Given the description of an element on the screen output the (x, y) to click on. 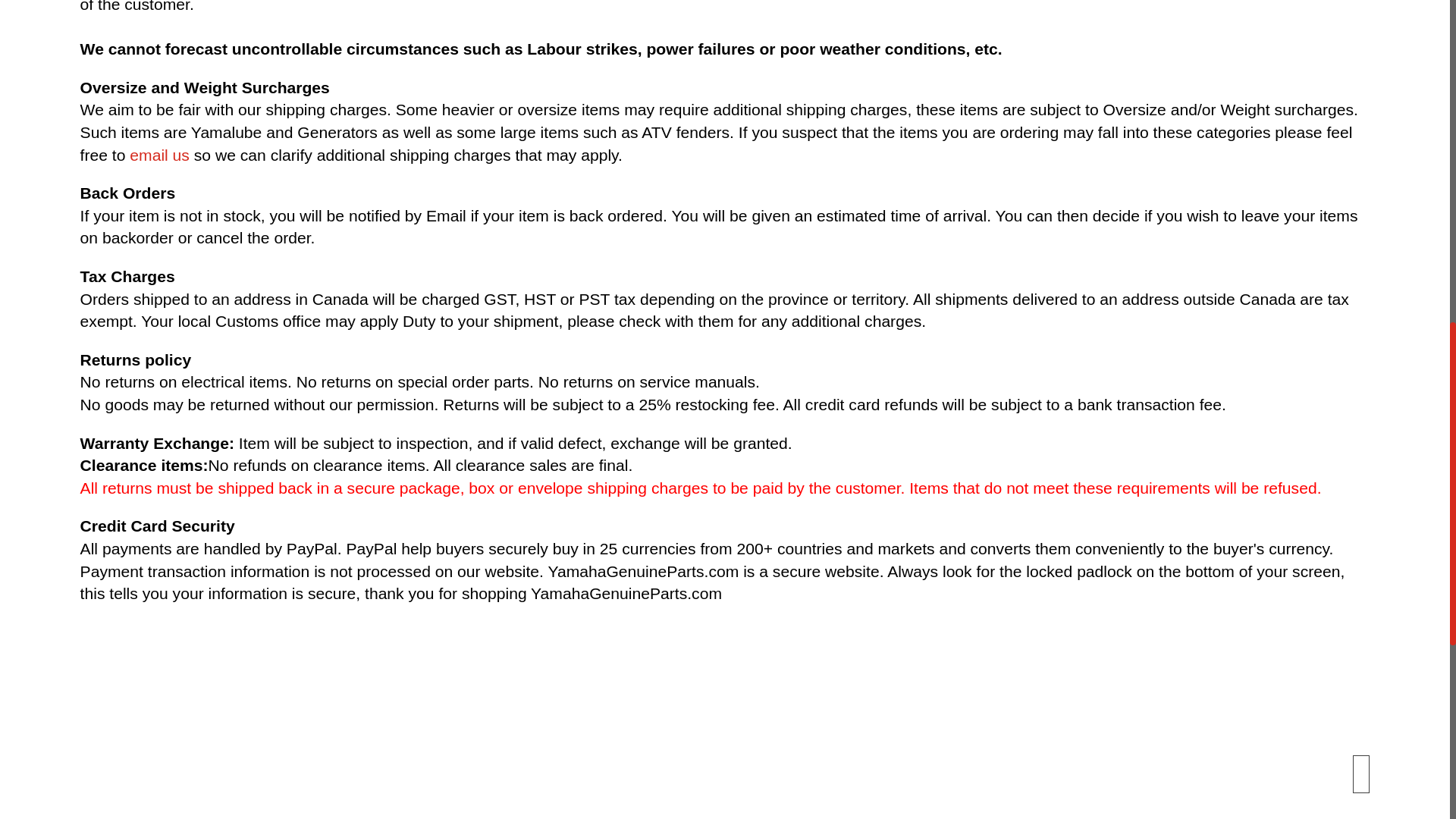
email us (159, 154)
